Given the description of an element on the screen output the (x, y) to click on. 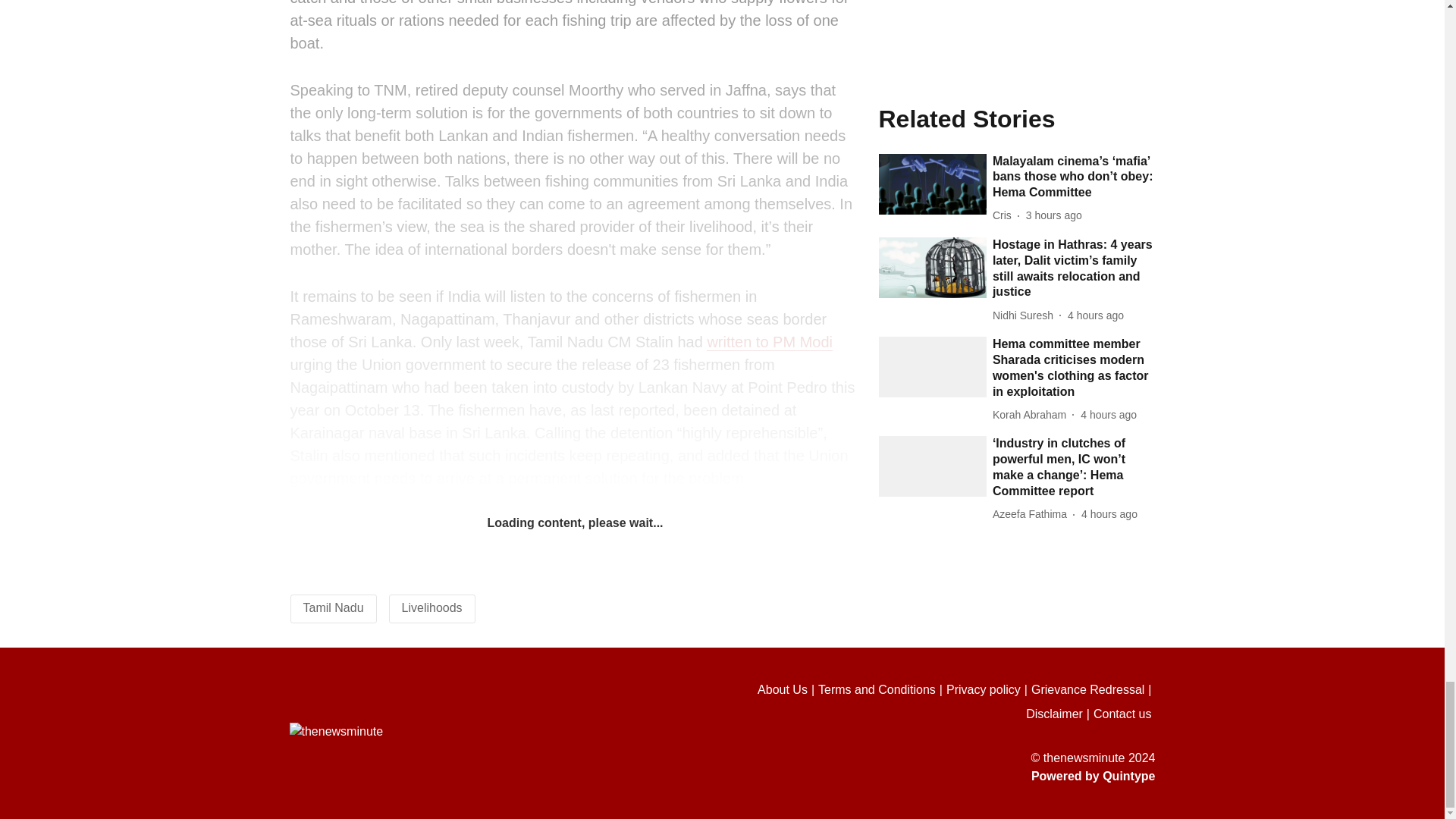
Tamil Nadu (333, 607)
Livelihoods (432, 607)
written to PM Modi (769, 342)
